Given the description of an element on the screen output the (x, y) to click on. 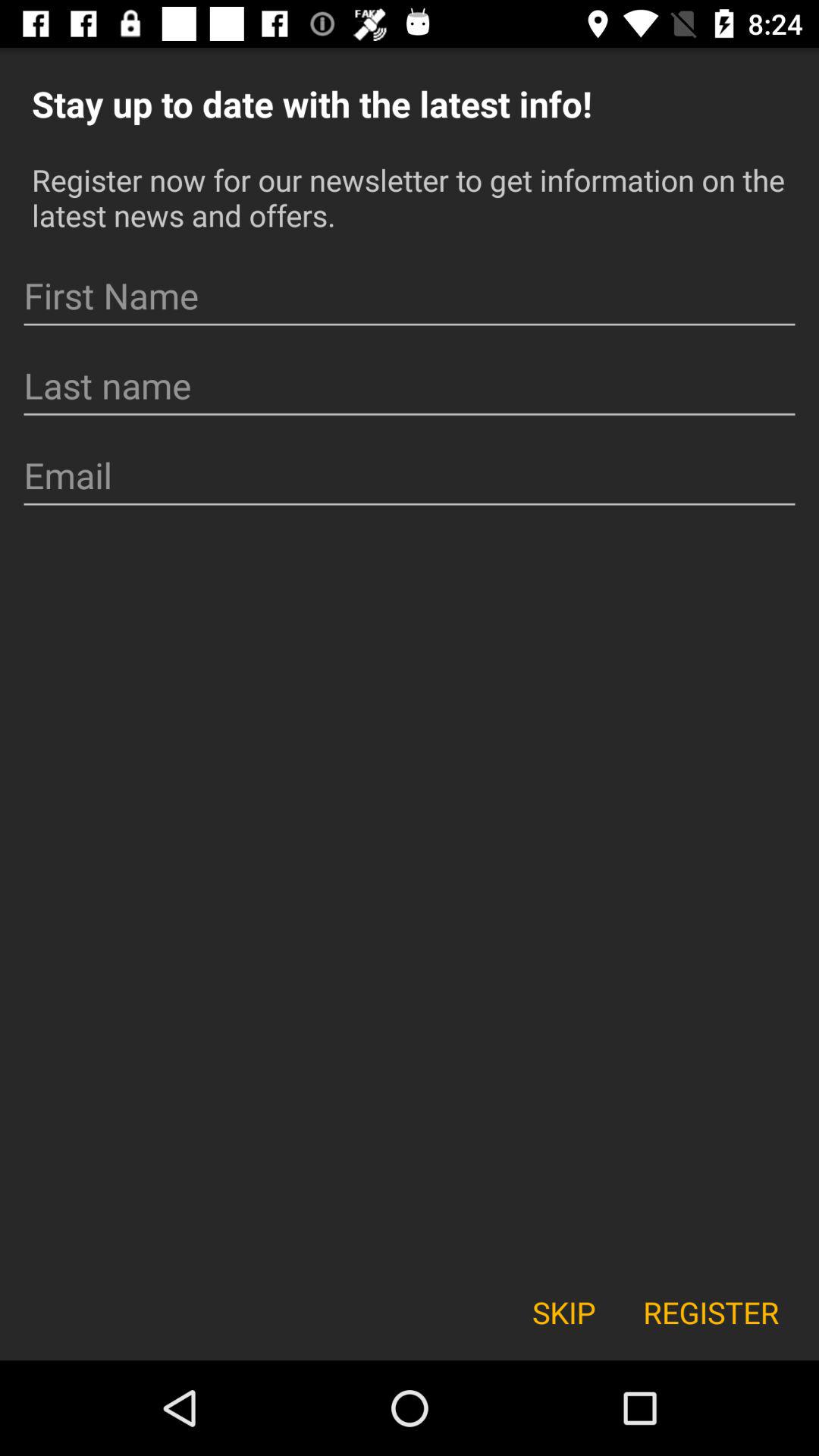
enter your email address (409, 475)
